Given the description of an element on the screen output the (x, y) to click on. 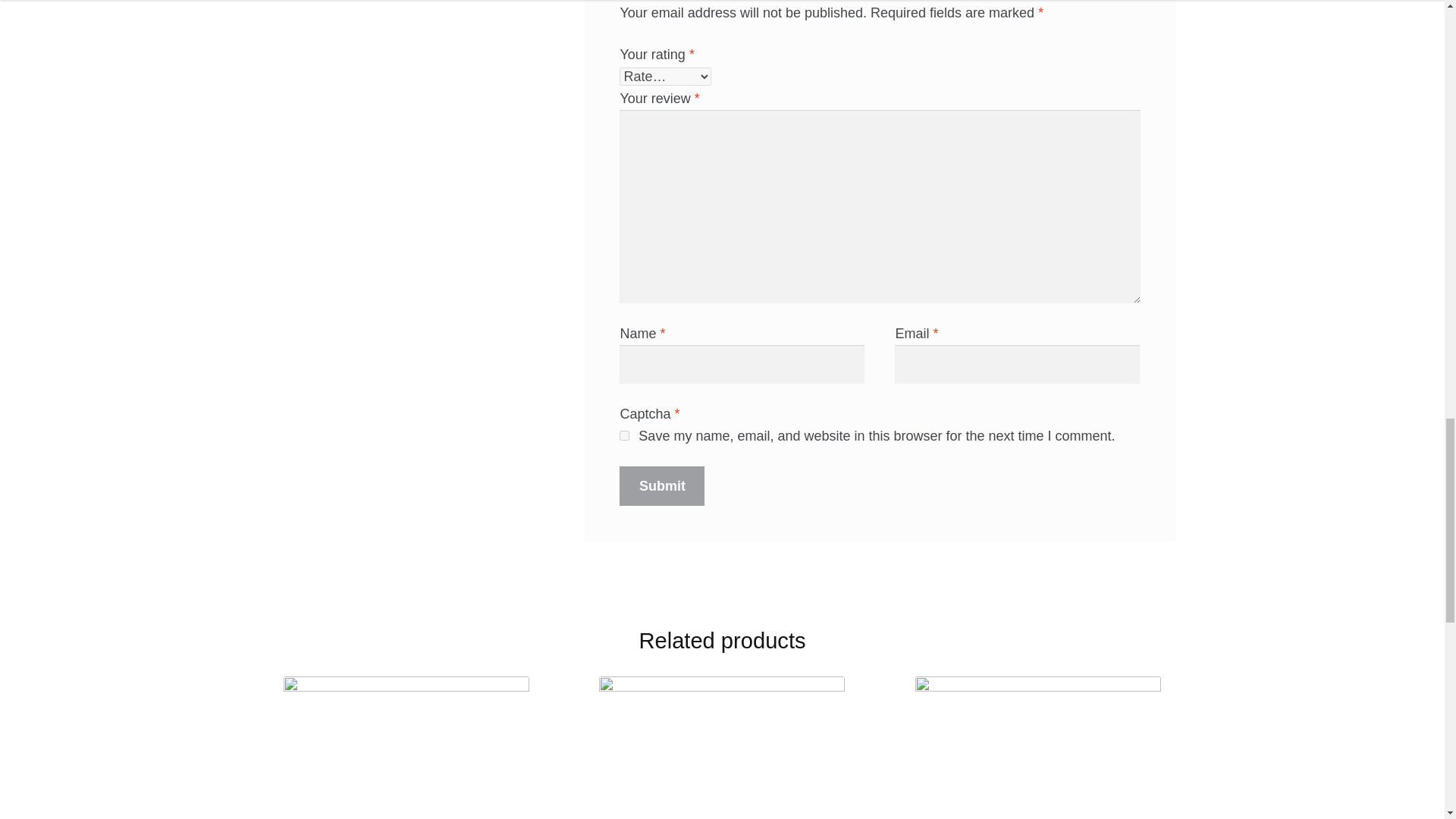
yes (624, 435)
Submit (662, 485)
